Given the description of an element on the screen output the (x, y) to click on. 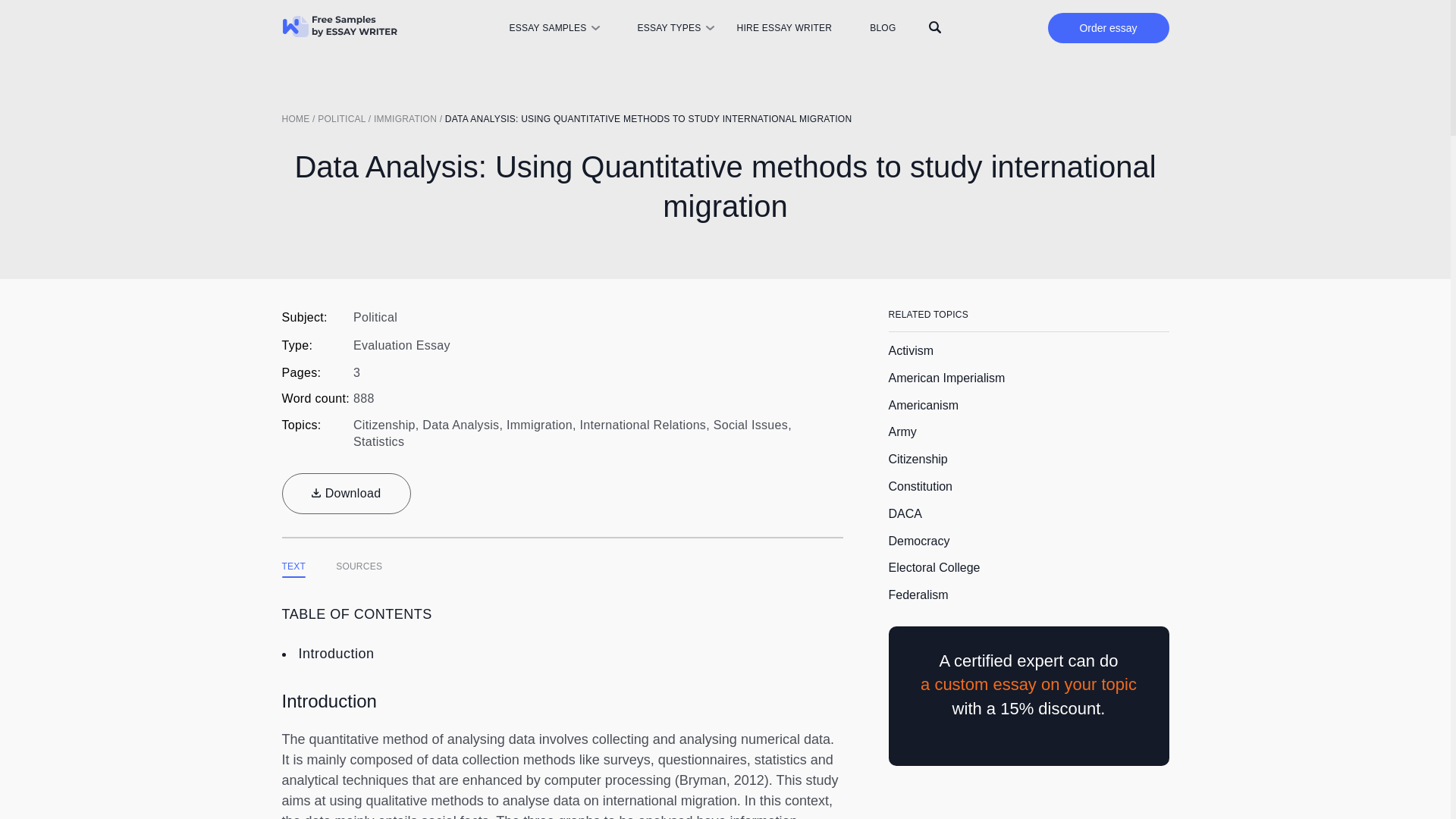
Introduction (336, 653)
ESSAY SAMPLES (545, 28)
ESSAY TYPES (668, 28)
